Given the description of an element on the screen output the (x, y) to click on. 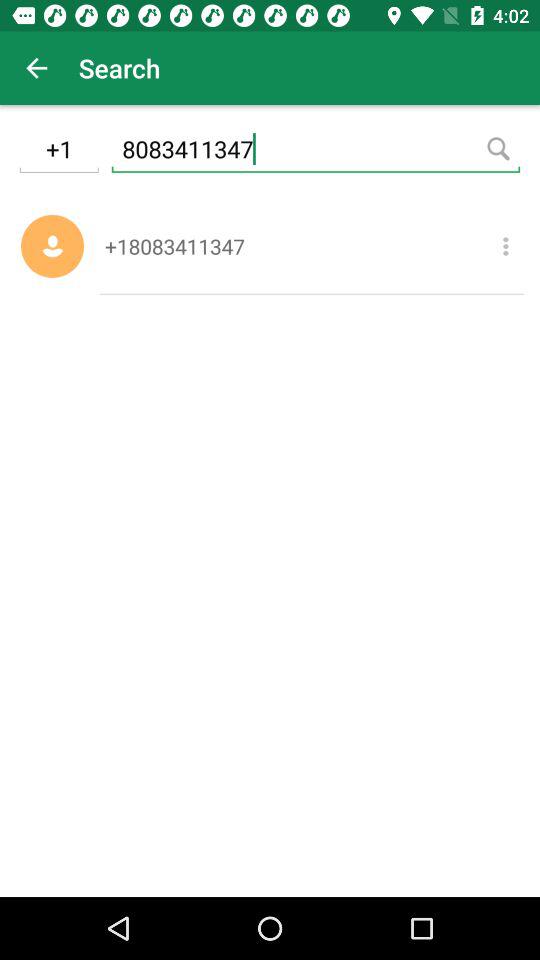
launch the item to the right of the +18083411347 icon (505, 246)
